Given the description of an element on the screen output the (x, y) to click on. 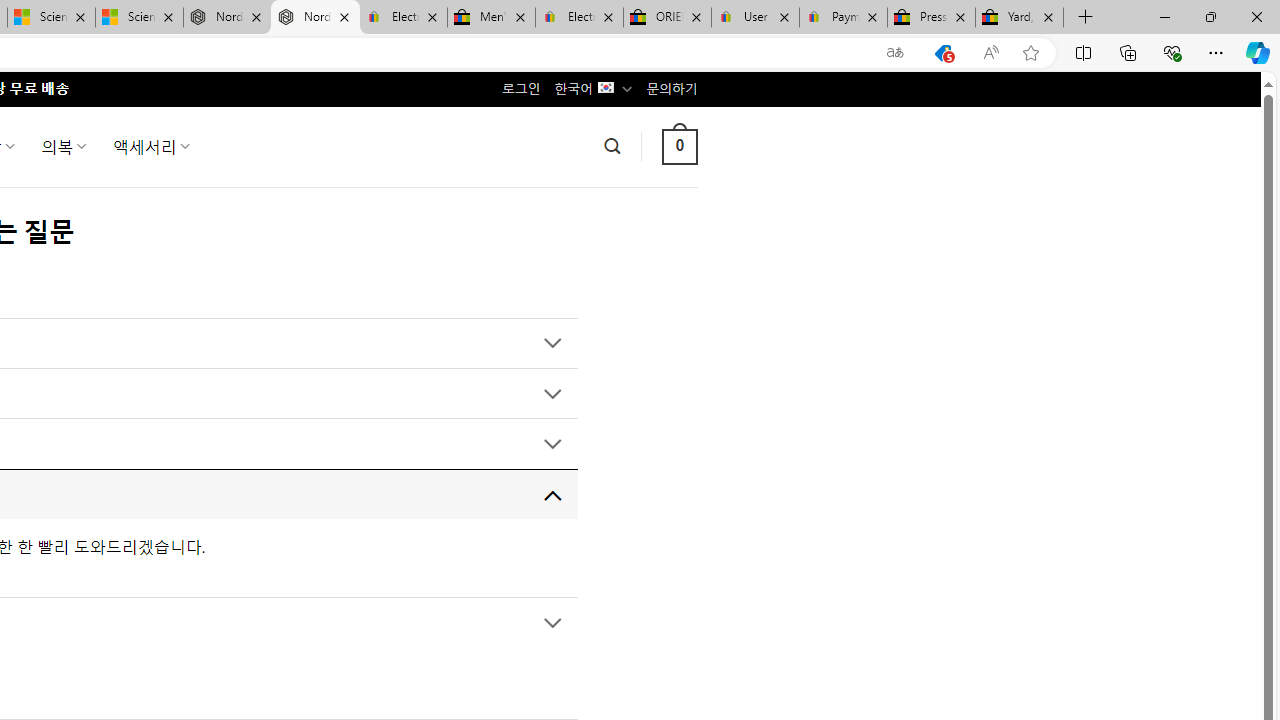
This site has coupons! Shopping in Microsoft Edge, 5 (943, 53)
Nordace - FAQ (315, 17)
  0   (679, 146)
